Given the description of an element on the screen output the (x, y) to click on. 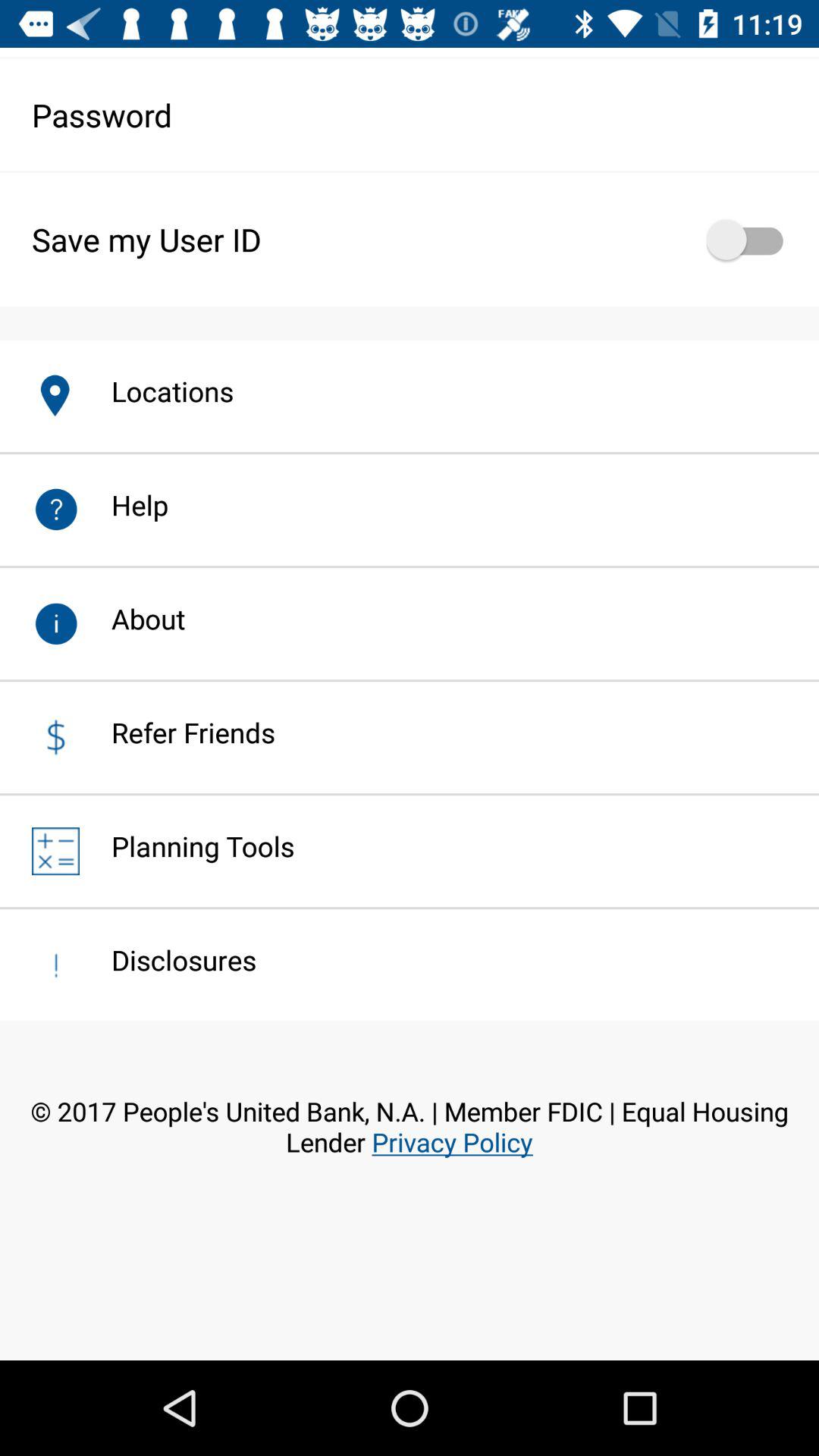
choose icon below the save my user icon (156, 391)
